Given the description of an element on the screen output the (x, y) to click on. 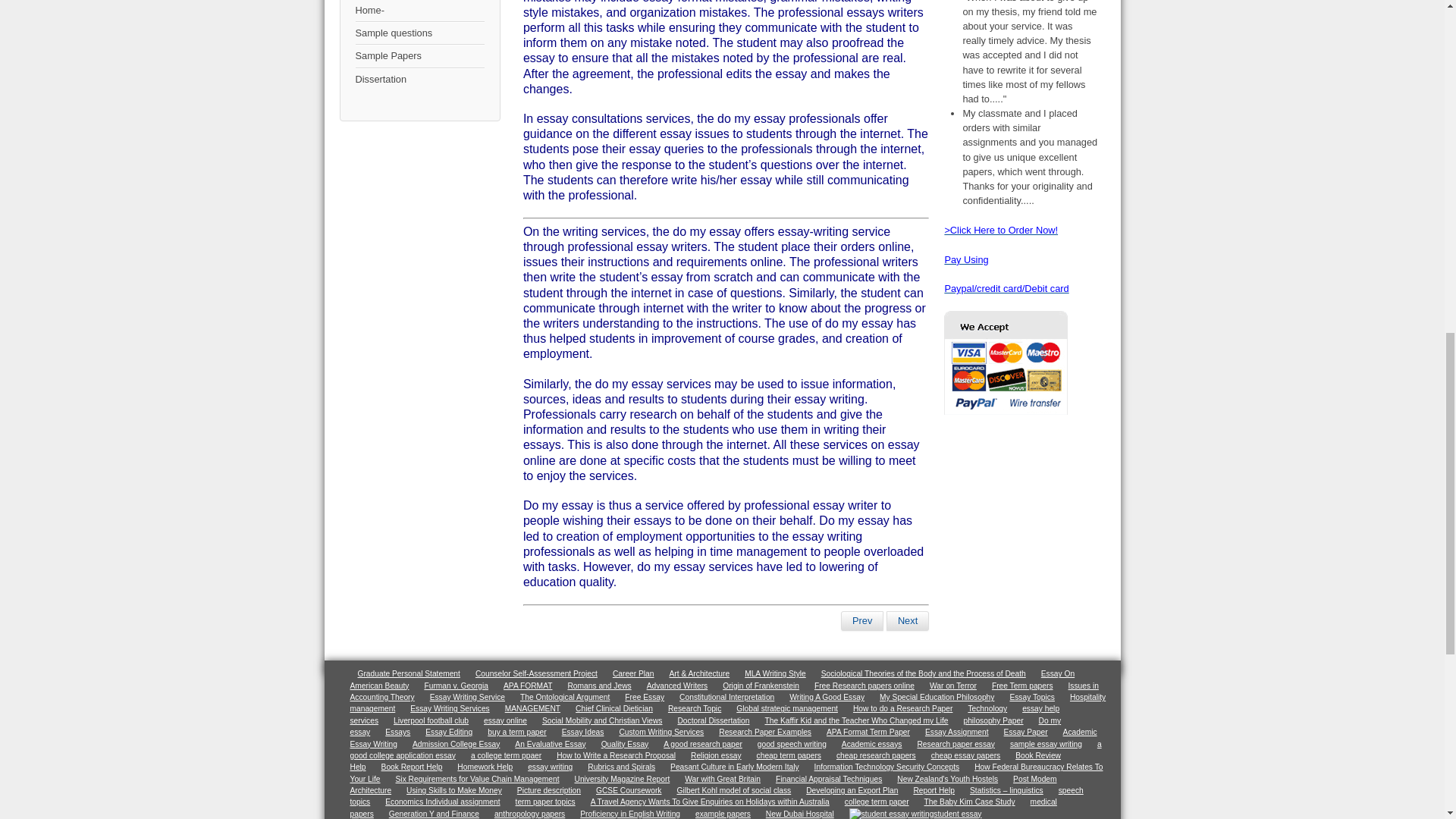
Next (907, 620)
order (1005, 288)
order (1000, 229)
Prev (862, 620)
Dissertation (419, 78)
order (965, 259)
Home- (419, 11)
Sample Papers (419, 56)
order (1005, 410)
Sample questions (419, 33)
Pay Using (965, 259)
